Given the description of an element on the screen output the (x, y) to click on. 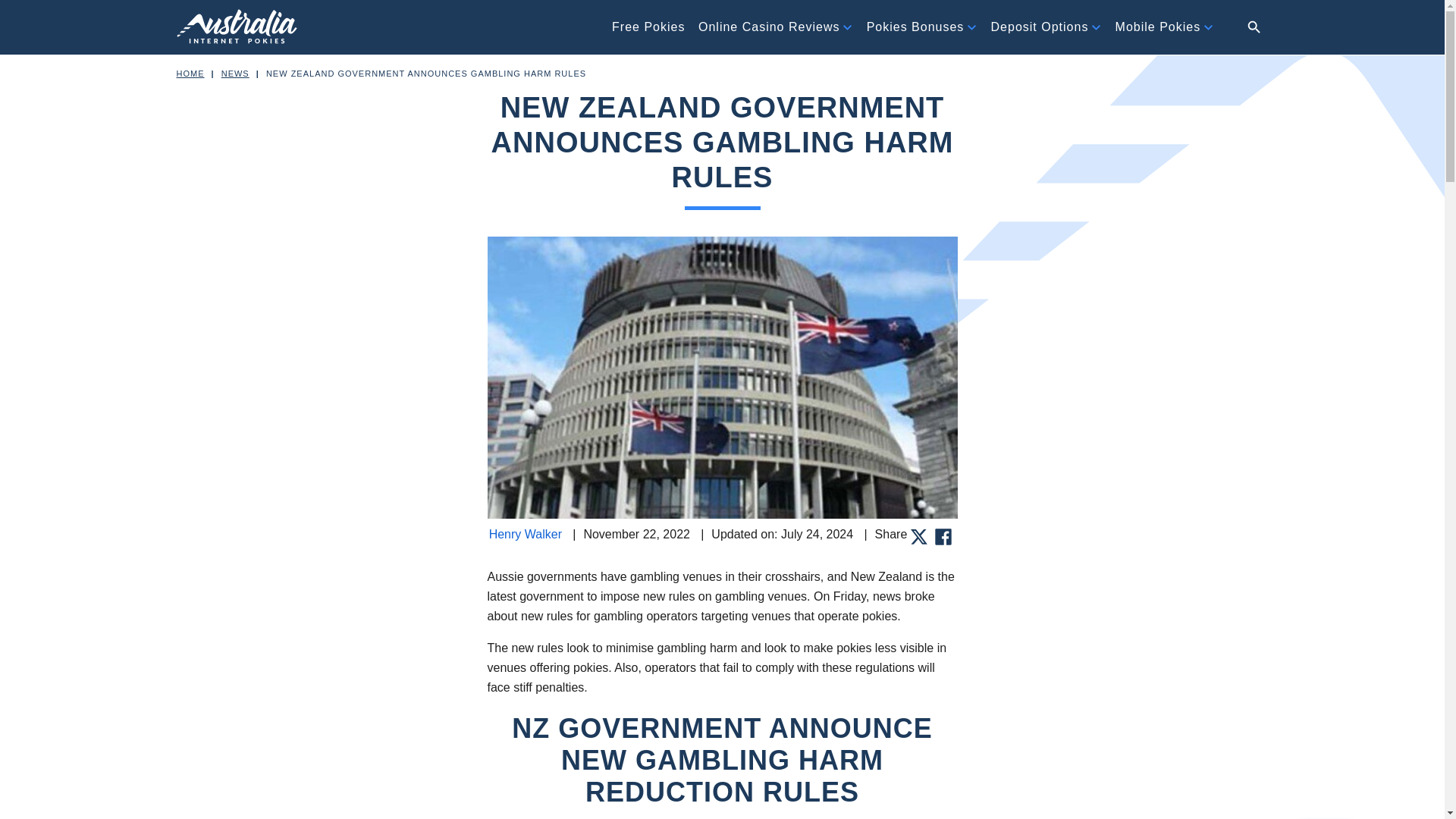
NEWS (234, 72)
Free Pokies (647, 26)
HOME (189, 72)
Mobile Pokies (1158, 26)
Deposit Options (1040, 26)
Pokies Bonuses (914, 26)
Online Casino Reviews (769, 26)
Henry Walker (525, 533)
